Given the description of an element on the screen output the (x, y) to click on. 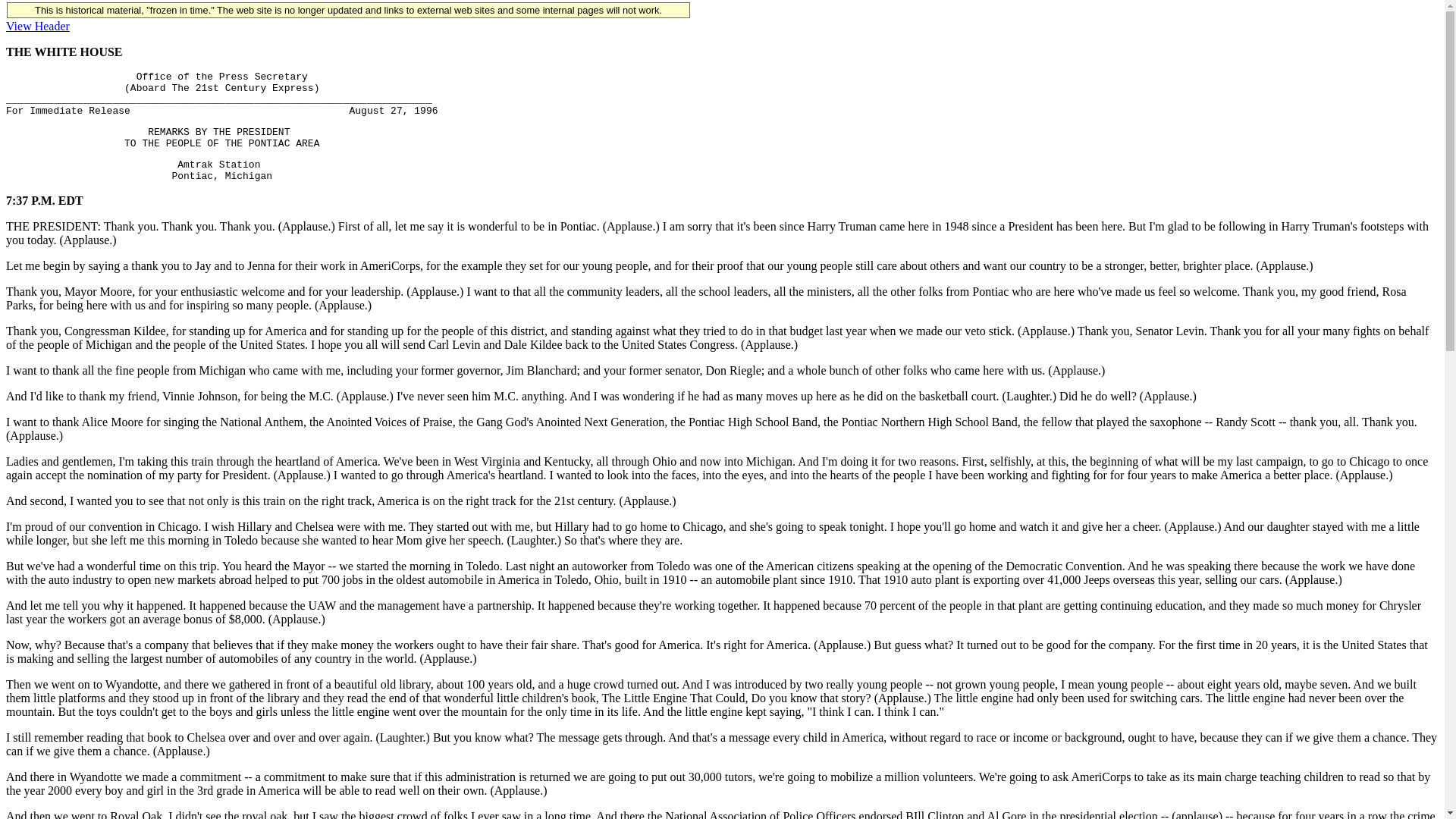
View Header (37, 25)
